Given the description of an element on the screen output the (x, y) to click on. 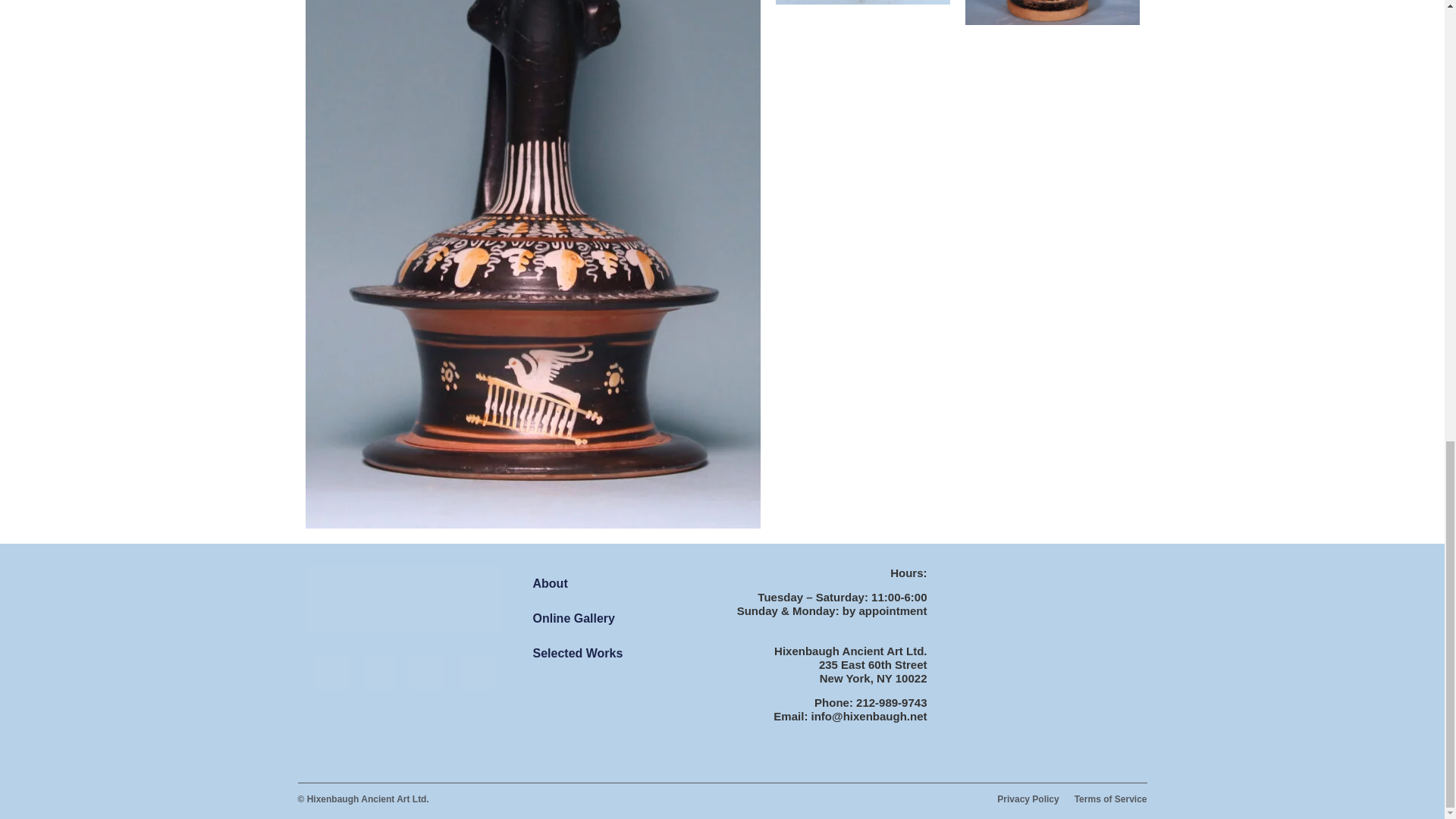
About (615, 583)
Selected Works (615, 653)
Online Gallery (615, 618)
